Given the description of an element on the screen output the (x, y) to click on. 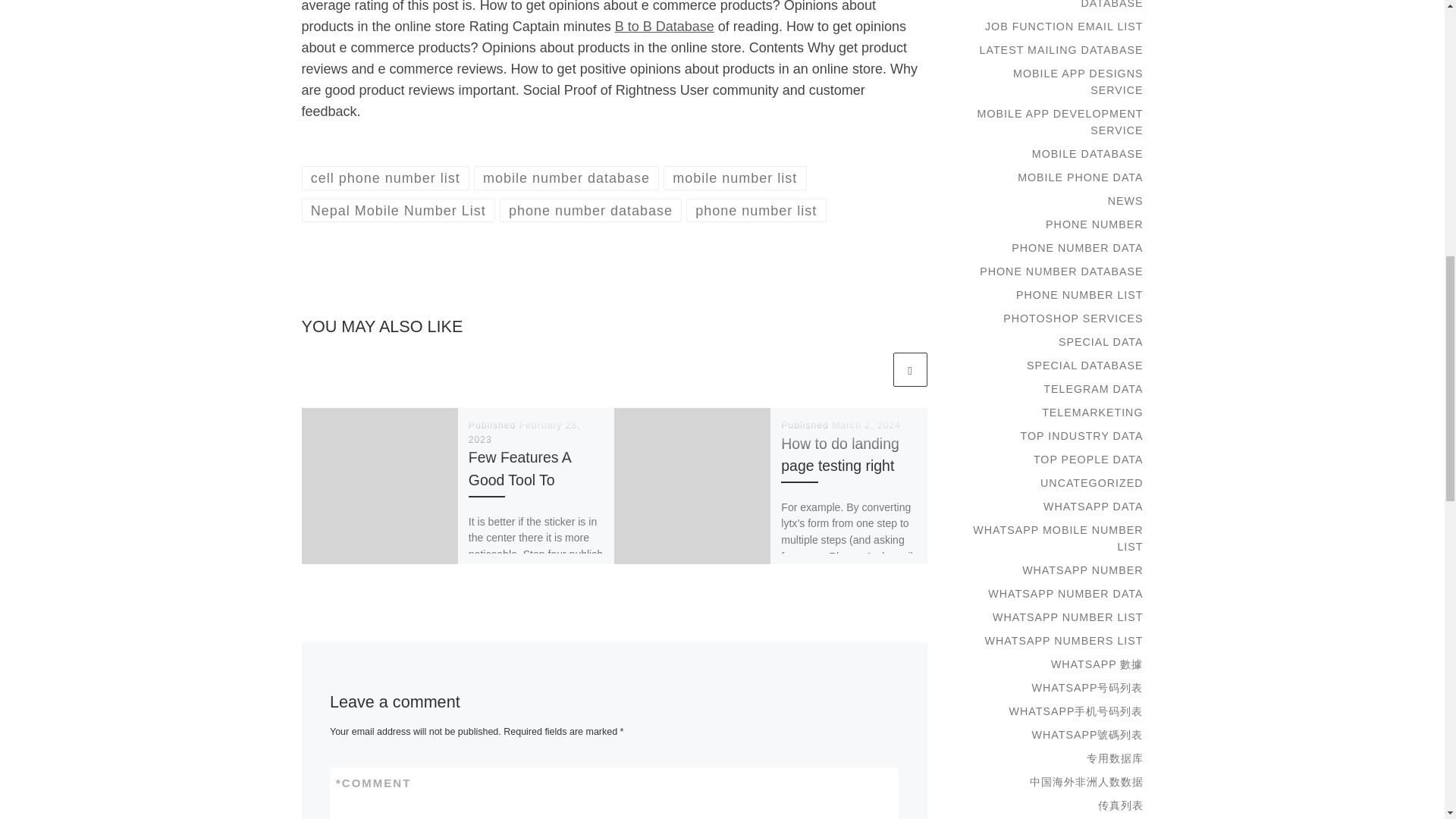
Nepal Mobile Number List (398, 210)
View all posts in phone number database (590, 210)
Next related articles (910, 369)
Few Features A Good Tool To (519, 467)
phone number list (756, 210)
Previous related articles (872, 369)
mobile number database (566, 177)
March 2, 2024 (866, 425)
View all posts in mobile number list (734, 177)
View all posts in phone number list (756, 210)
